Given the description of an element on the screen output the (x, y) to click on. 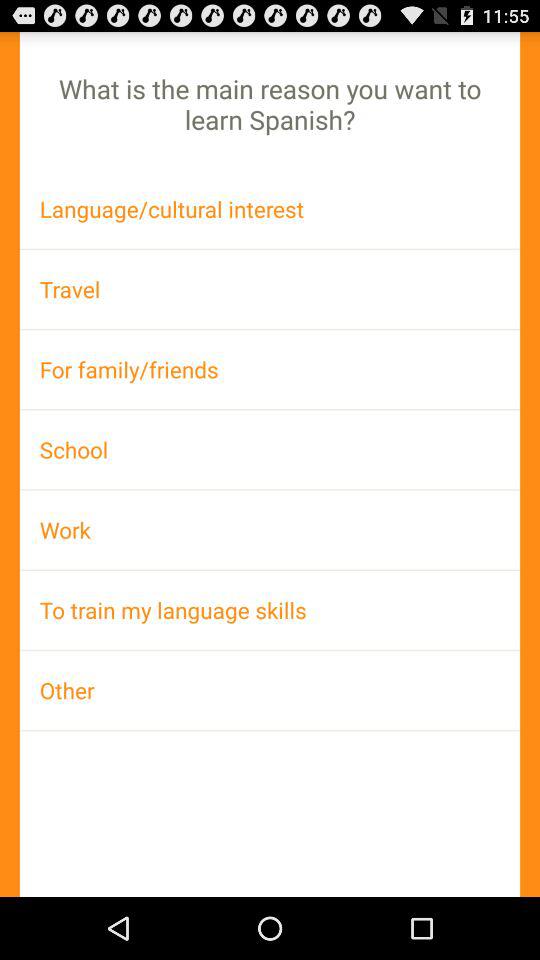
select icon below the travel icon (269, 369)
